Given the description of an element on the screen output the (x, y) to click on. 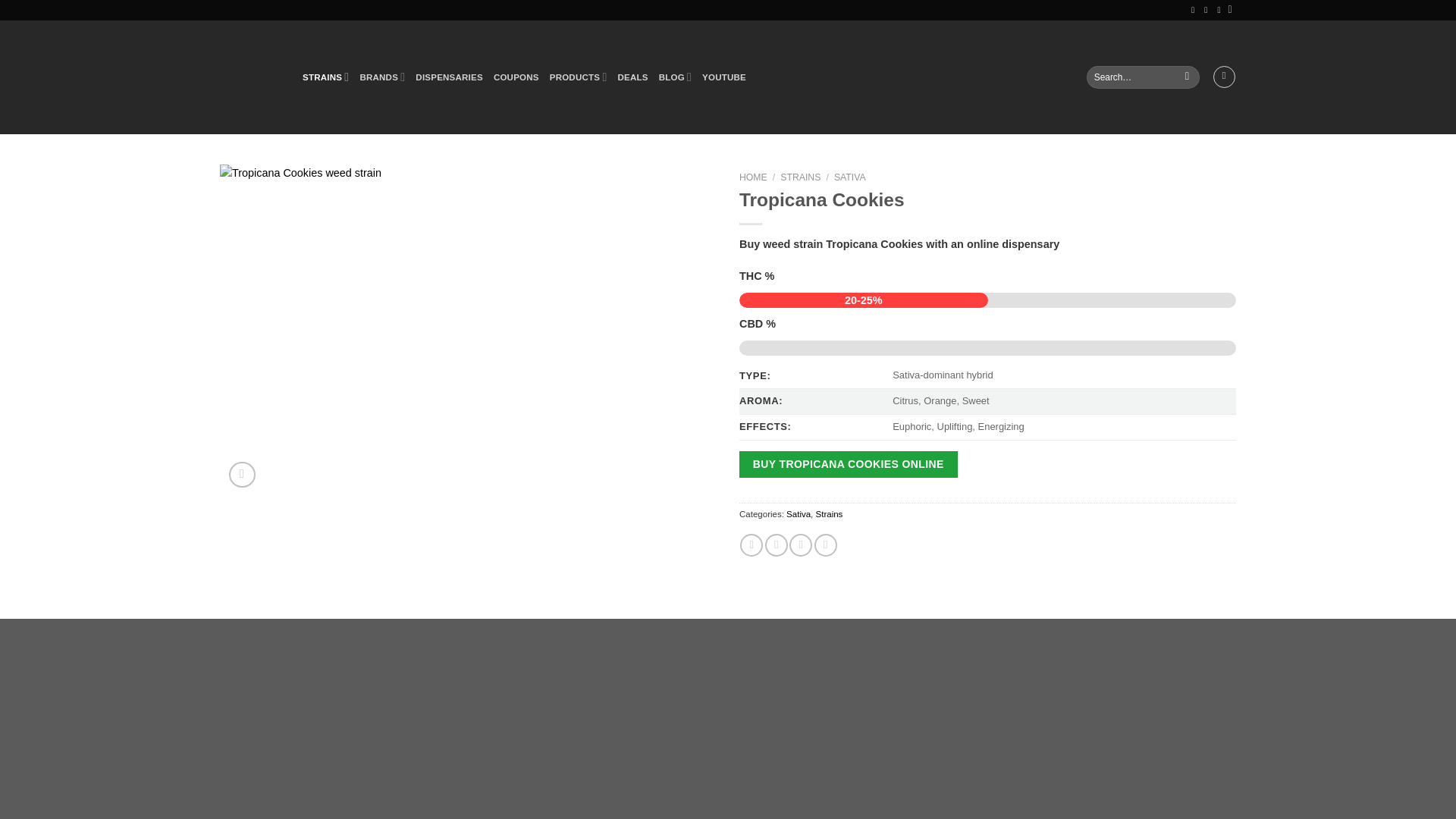
Follow on Instagram (1195, 9)
Follow on YouTube (1208, 9)
Zoom (242, 474)
PRODUCTS (578, 77)
Email to a Friend (800, 544)
Follow on Discord (1221, 9)
Share on Facebook (750, 544)
Share on Twitter (776, 544)
DISPENSARIES (448, 77)
